Given the description of an element on the screen output the (x, y) to click on. 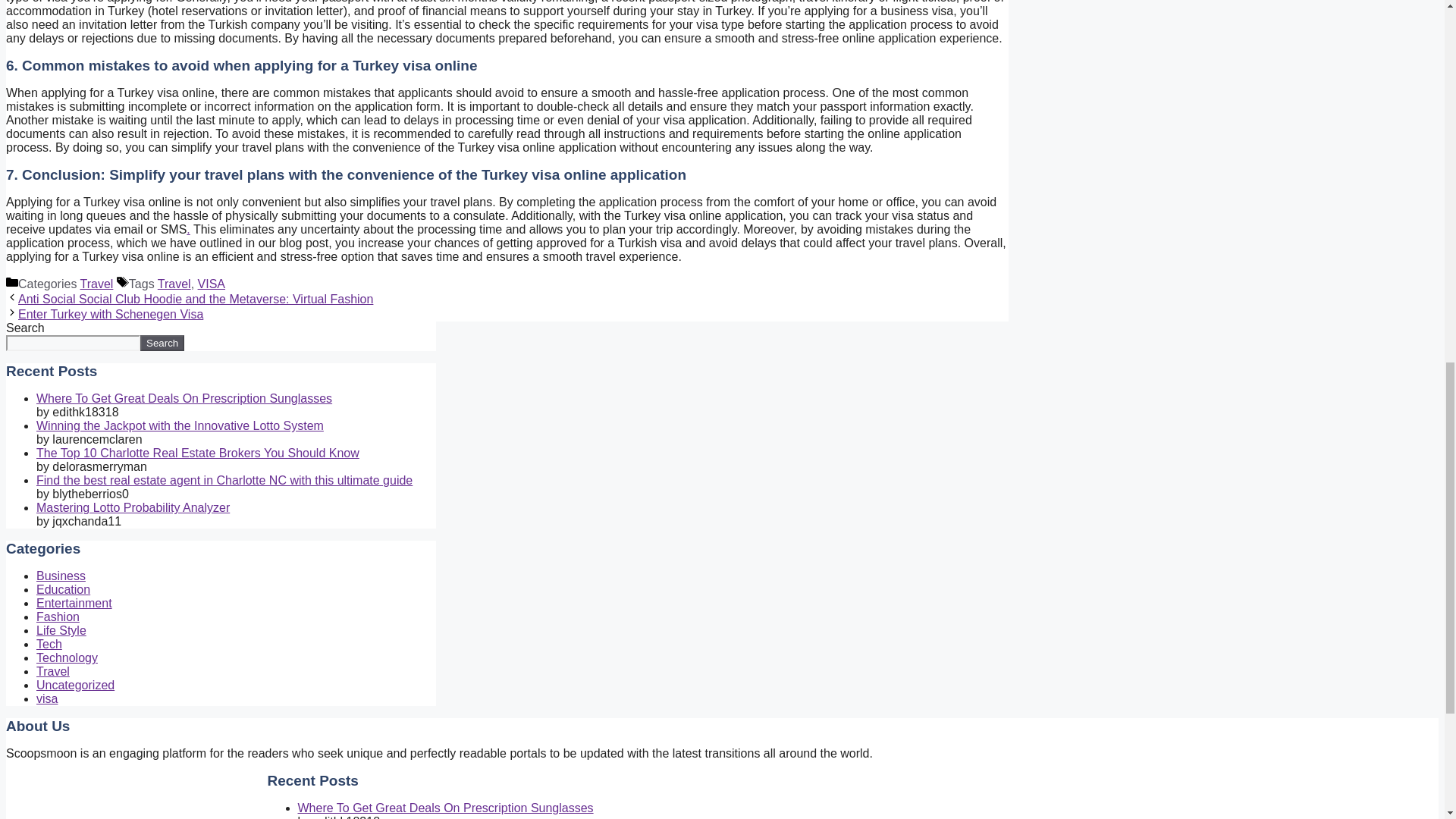
Business (60, 575)
Search (161, 342)
Entertainment (74, 603)
Travel (52, 671)
visa (47, 698)
Tech (49, 644)
Where To Get Great Deals On Prescription Sunglasses (183, 398)
Education (63, 589)
VISA (211, 283)
Winning the Jackpot with the Innovative Lotto System (179, 425)
